Given the description of an element on the screen output the (x, y) to click on. 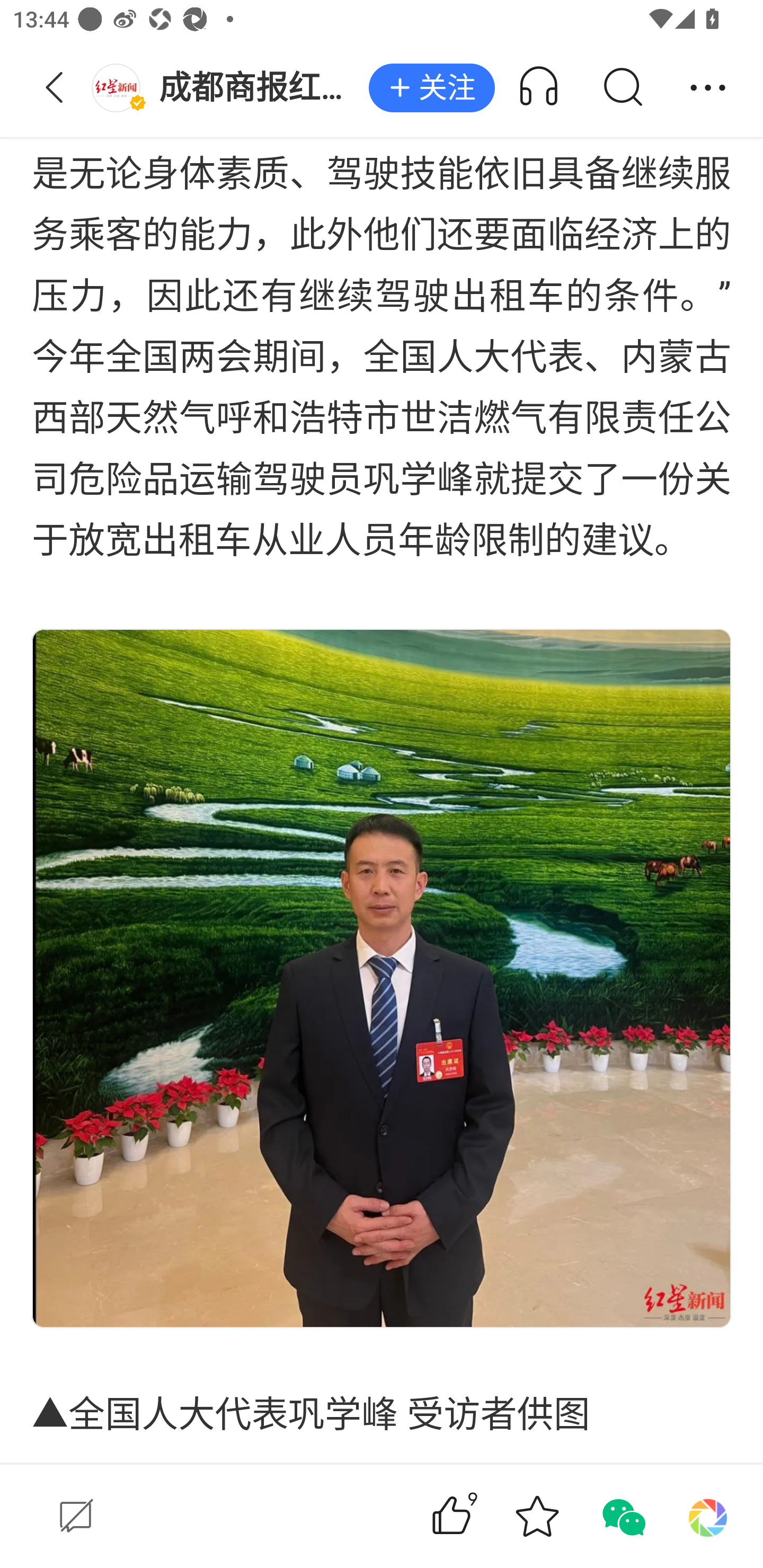
成都商报红星... (229, 87)
搜索  (622, 87)
分享  (707, 87)
 返回 (54, 87)
 关注 (431, 88)
新闻图片 (381, 978)
发表评论  发表评论 (199, 1516)
9赞 (476, 1516)
收藏  (536, 1516)
分享到微信  (622, 1516)
分享到朋友圈 (707, 1516)
